Given the description of an element on the screen output the (x, y) to click on. 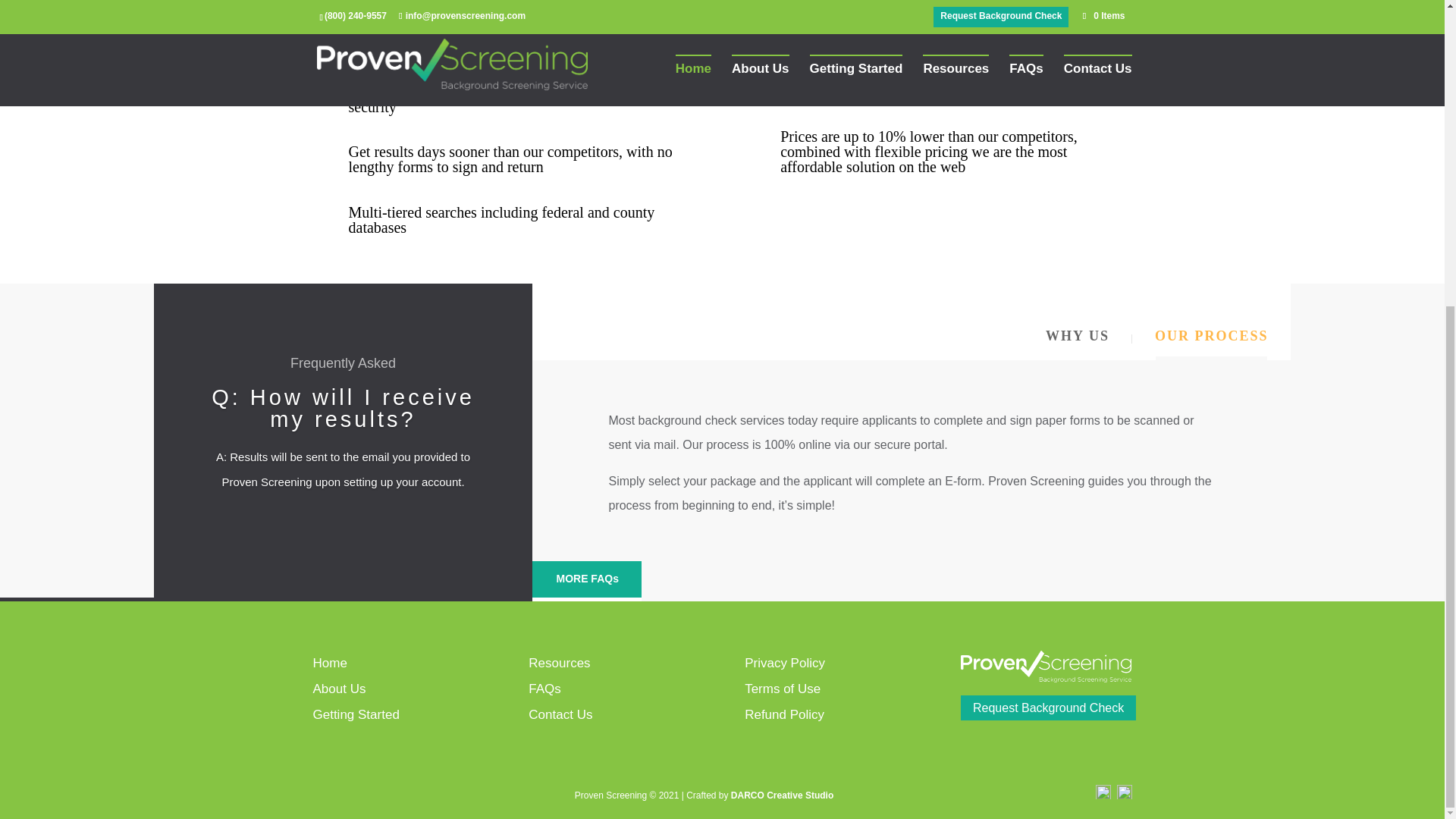
Getting Started (355, 714)
Privacy Policy (784, 663)
Request Background Check (1047, 707)
DARCO Creative Studio (781, 795)
OUR PROCESS (1211, 336)
Home (329, 663)
Resources (558, 663)
Terms of Use (782, 688)
FAQs (544, 688)
WHY US (1077, 336)
MORE FAQs (586, 581)
About Us (339, 688)
Contact Us (560, 714)
Refund Policy (784, 714)
